Given the description of an element on the screen output the (x, y) to click on. 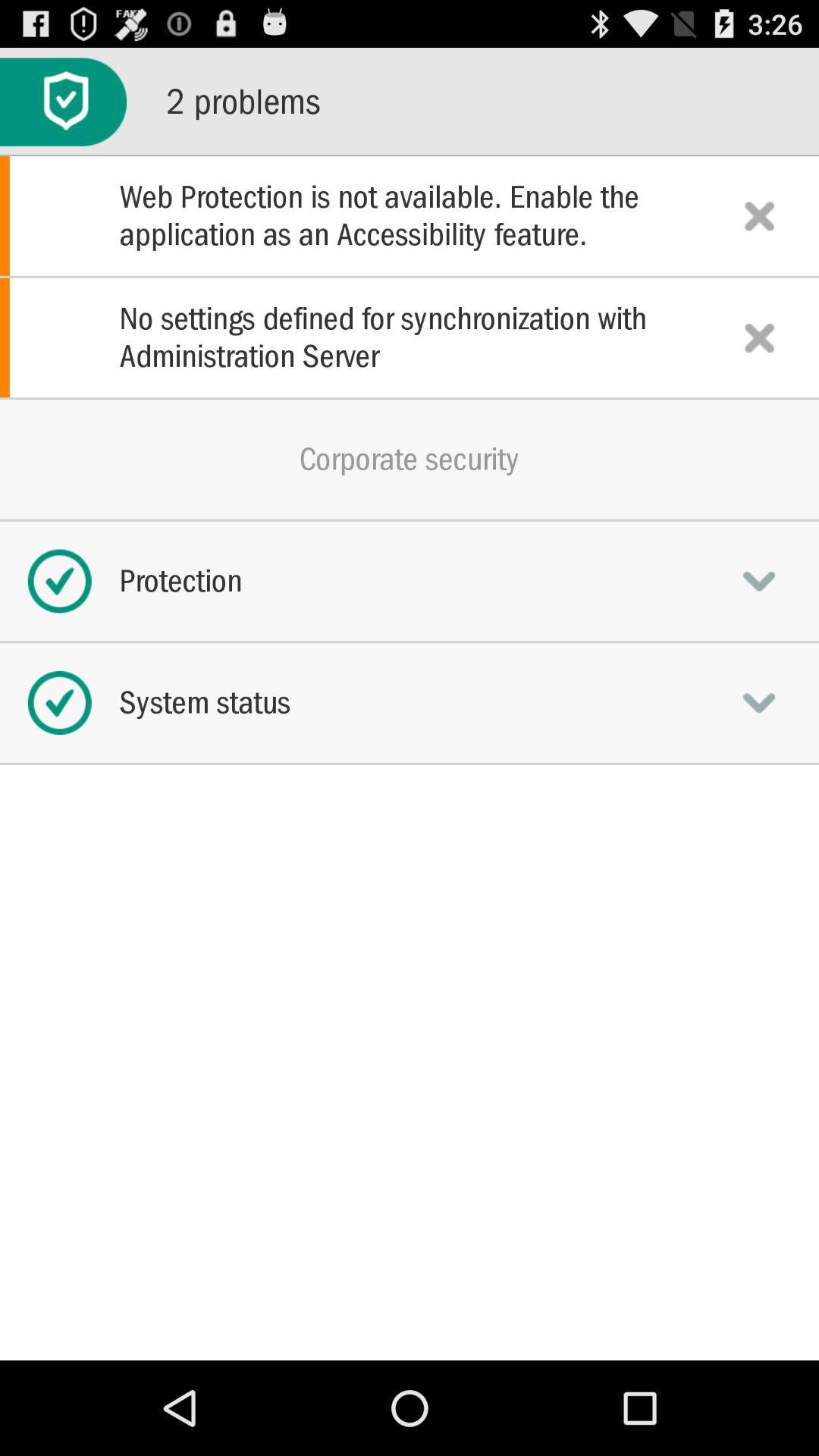
open protection tab (759, 580)
